Given the description of an element on the screen output the (x, y) to click on. 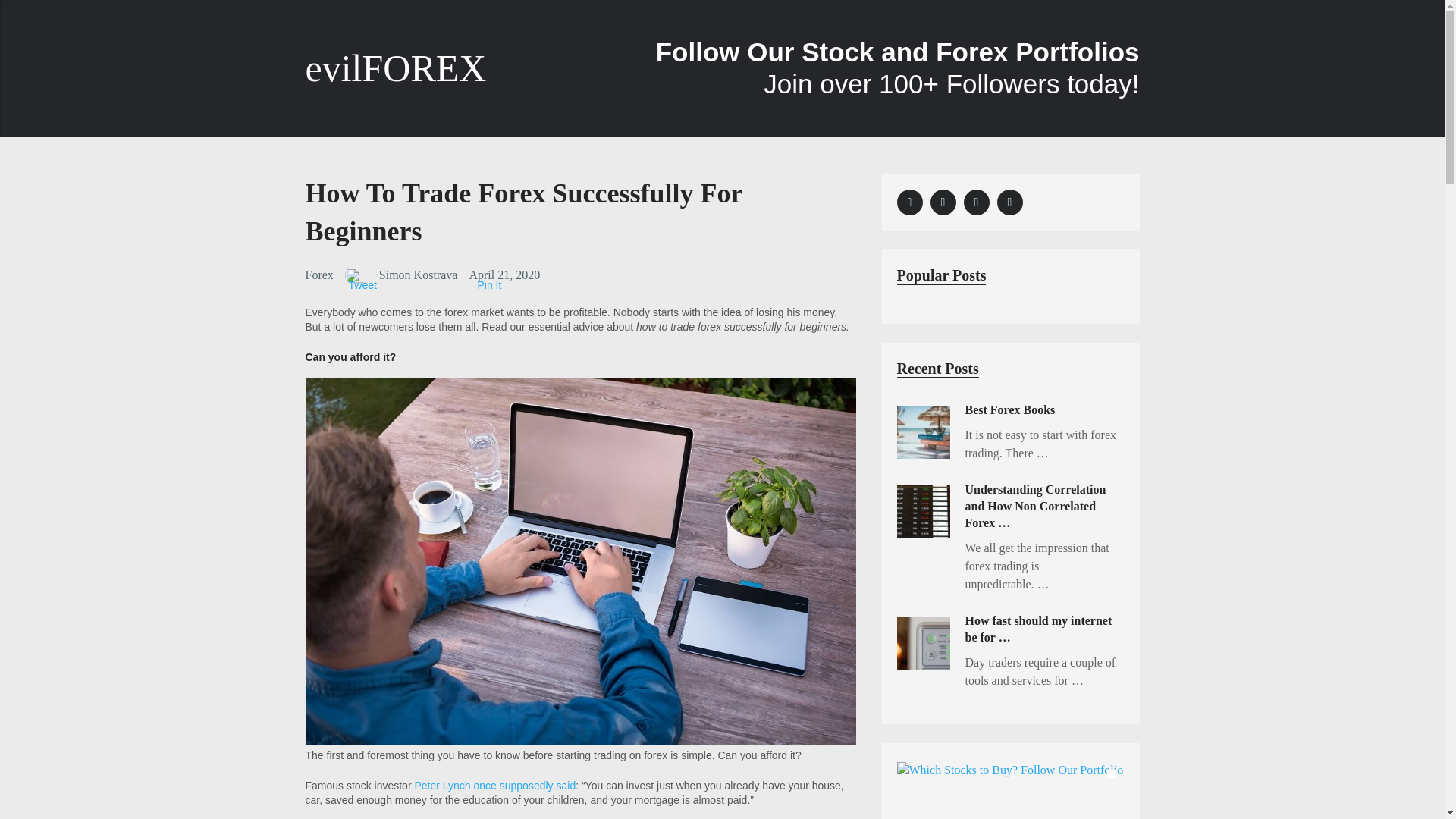
Forex (318, 274)
Tweet (363, 285)
evilFOREX (395, 67)
Twitter (942, 202)
Dribbble (908, 202)
Best Forex Books (1008, 409)
RSS (1008, 202)
Peter Lynch once supposedly said (494, 785)
Pin It (489, 285)
Email (975, 202)
View all posts in Forex (318, 274)
Best Forex Books (922, 431)
